Given the description of an element on the screen output the (x, y) to click on. 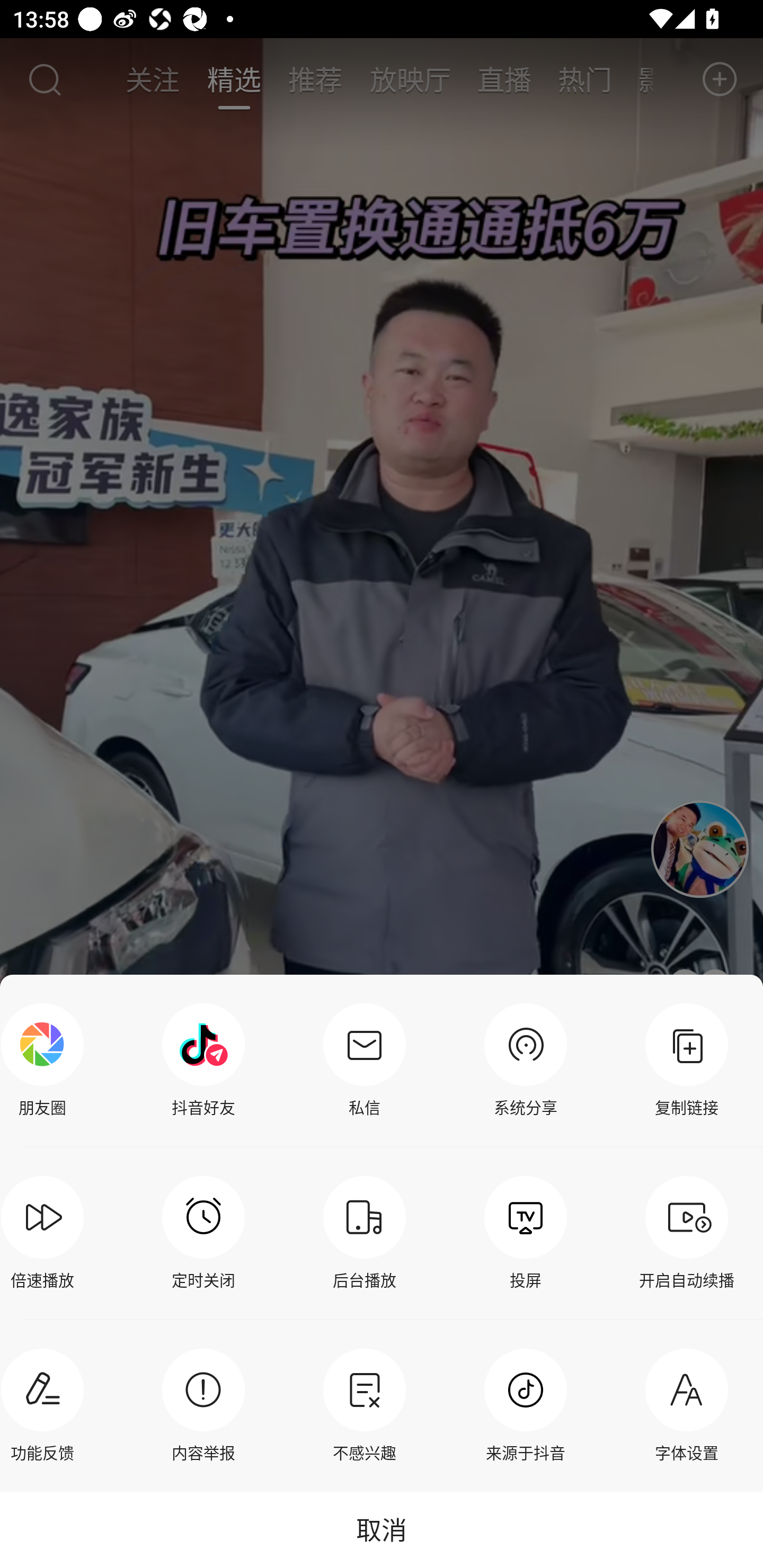
朋友圈 (46, 1060)
抖音好友 (203, 1060)
私信 (364, 1060)
系统分享 (525, 1060)
复制链接 (686, 1060)
倍速播放 (46, 1232)
定时关闭 (203, 1232)
后台播放 (364, 1232)
投屏 (525, 1232)
开启自动续播 (686, 1232)
功能反馈 (46, 1405)
内容举报 (203, 1405)
不感兴趣 (364, 1405)
来源于抖音 (525, 1405)
字体设置 (686, 1405)
取消 (381, 1529)
